Given the description of an element on the screen output the (x, y) to click on. 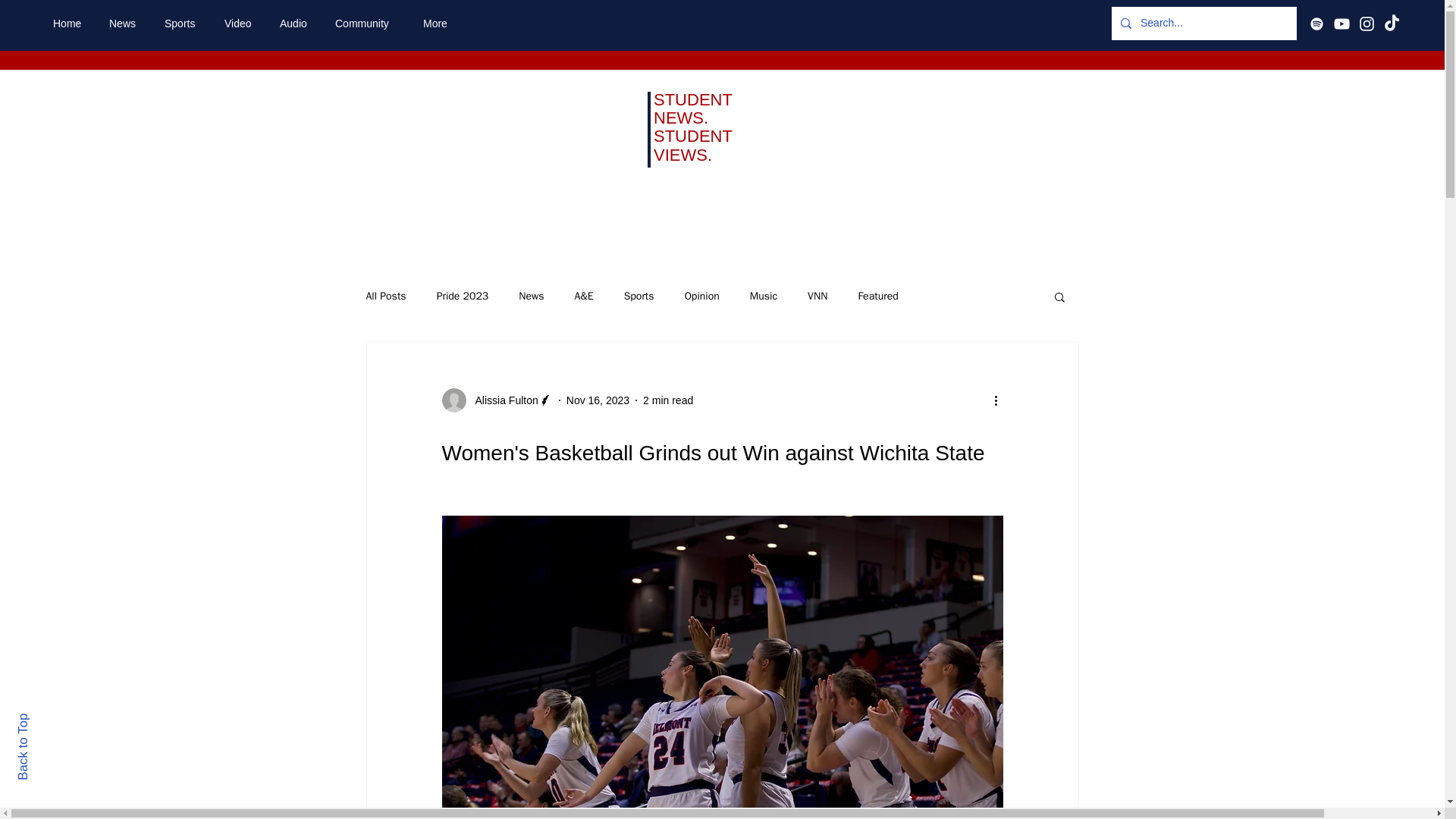
Community (367, 23)
Pride 2023 (462, 296)
Sports (638, 296)
Music (763, 296)
Nov 16, 2023 (597, 399)
VNN (817, 296)
Featured (877, 296)
Opinion (701, 296)
All Posts (385, 296)
Alissia Fulton (501, 400)
